Given the description of an element on the screen output the (x, y) to click on. 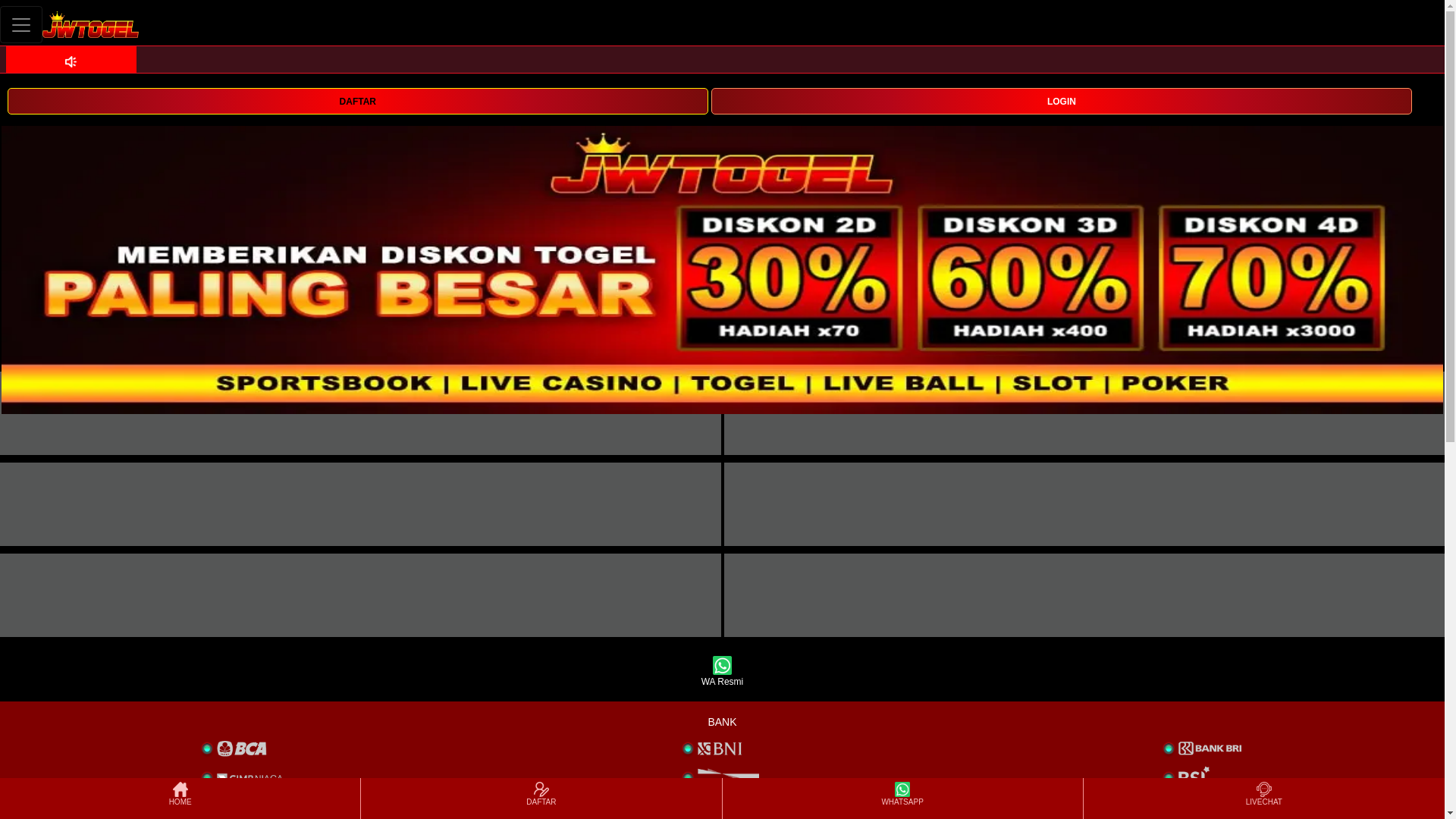
DAFTAR (540, 798)
WHATSAPP (901, 798)
LIVECHAT (1263, 798)
DAFTAR (357, 100)
HOME (179, 798)
WA Resmi (722, 672)
LOGIN (1061, 100)
LOGIN (1061, 100)
DAFTAR (357, 100)
